Given the description of an element on the screen output the (x, y) to click on. 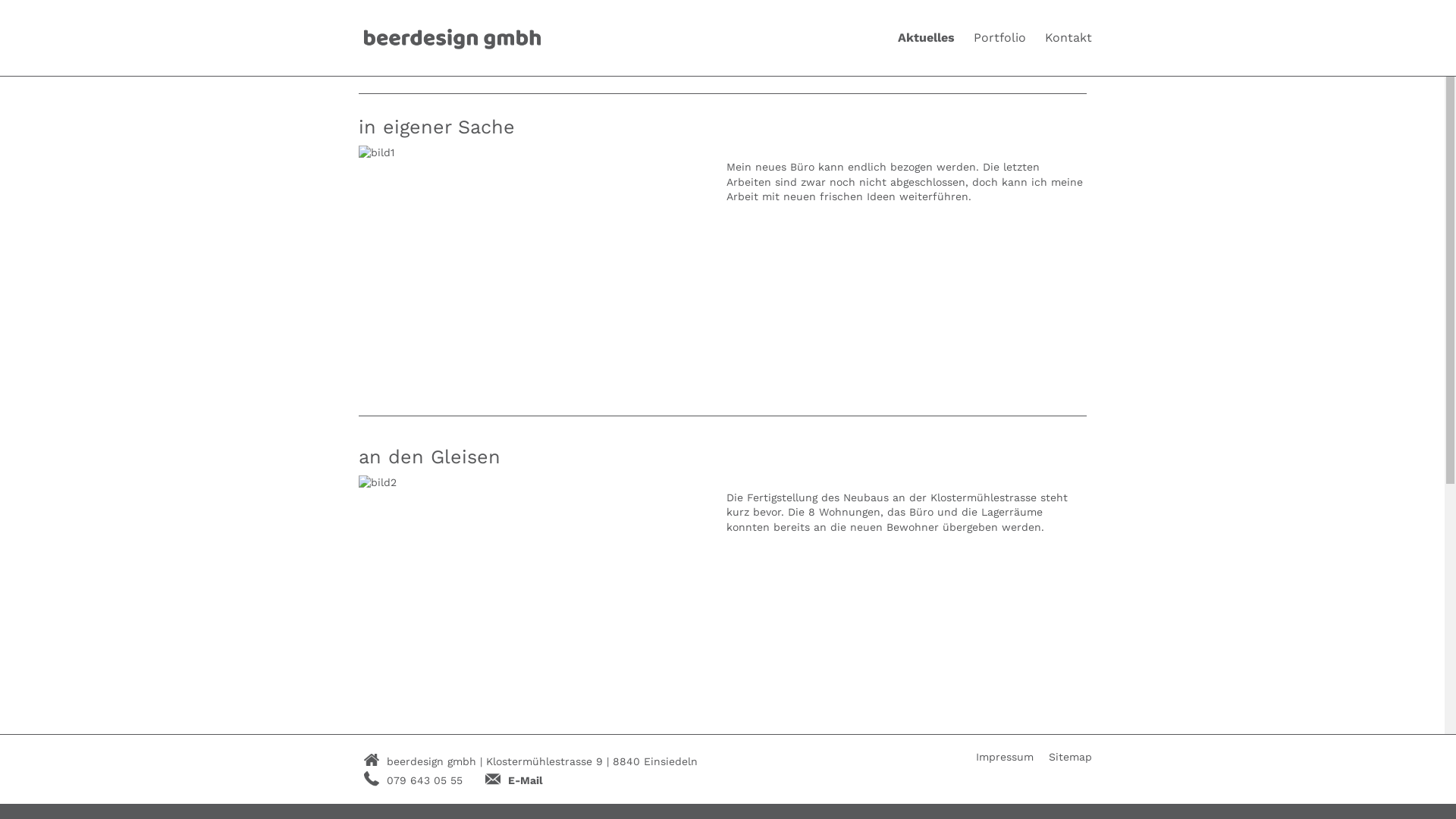
Portfolio Element type: text (999, 37)
Home Element type: hover (452, 37)
E-Mail Element type: text (525, 780)
Sitemap Element type: text (1070, 757)
mit Seesicht Element type: text (417, 797)
an den Gleisen Element type: text (428, 456)
Aktuelles Element type: text (925, 37)
Impressum Element type: text (1004, 757)
Kontakt Element type: text (1068, 37)
in eigener Sache Element type: text (435, 127)
